Given the description of an element on the screen output the (x, y) to click on. 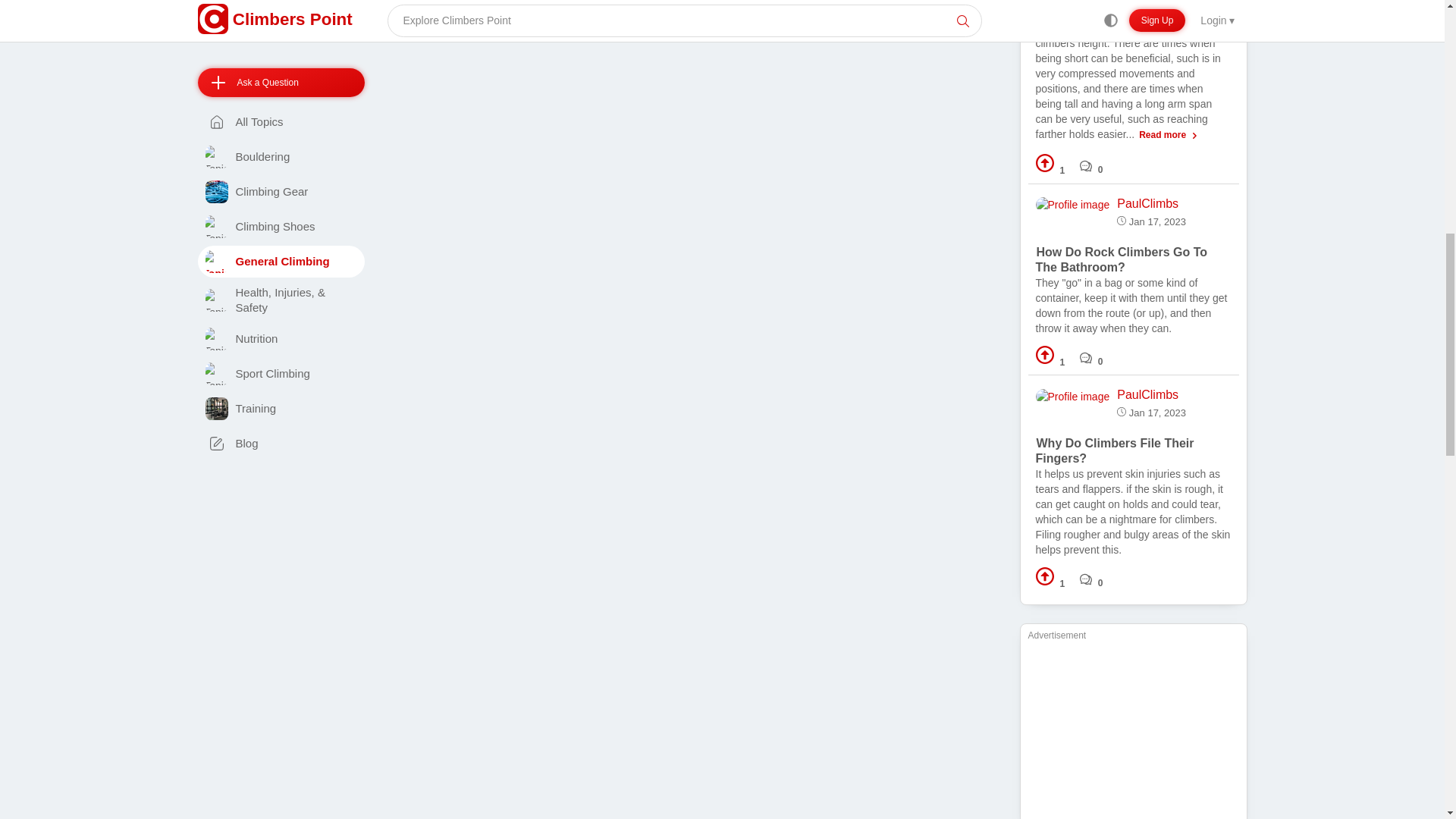
View Question (1121, 259)
View Answer (1133, 305)
Answer Comments (1091, 165)
View Answer (1133, 72)
